Given the description of an element on the screen output the (x, y) to click on. 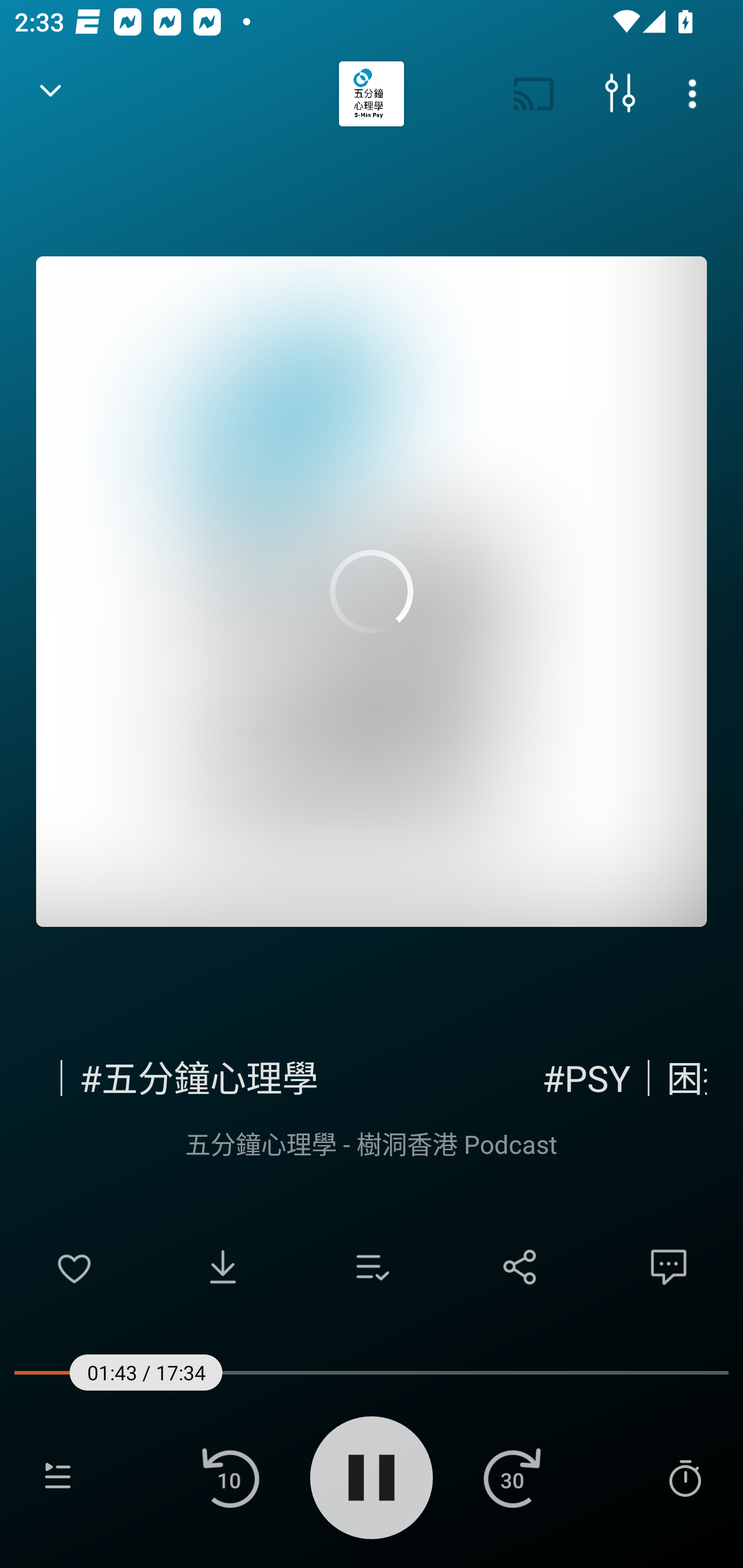
Cast. Disconnected (533, 93)
 Back (50, 94)
#PSY｜困擾源於盲點？認知行為治療 CBT！心理治療百科（一）｜#五分鐘心理學 (371, 1075)
五分鐘心理學 - 樹洞香港 Podcast (371, 1142)
Comments (668, 1266)
Add to Favorites (73, 1266)
Add to playlist (371, 1266)
Share (519, 1266)
 Playlist (57, 1477)
Sleep Timer  (684, 1477)
